Given the description of an element on the screen output the (x, y) to click on. 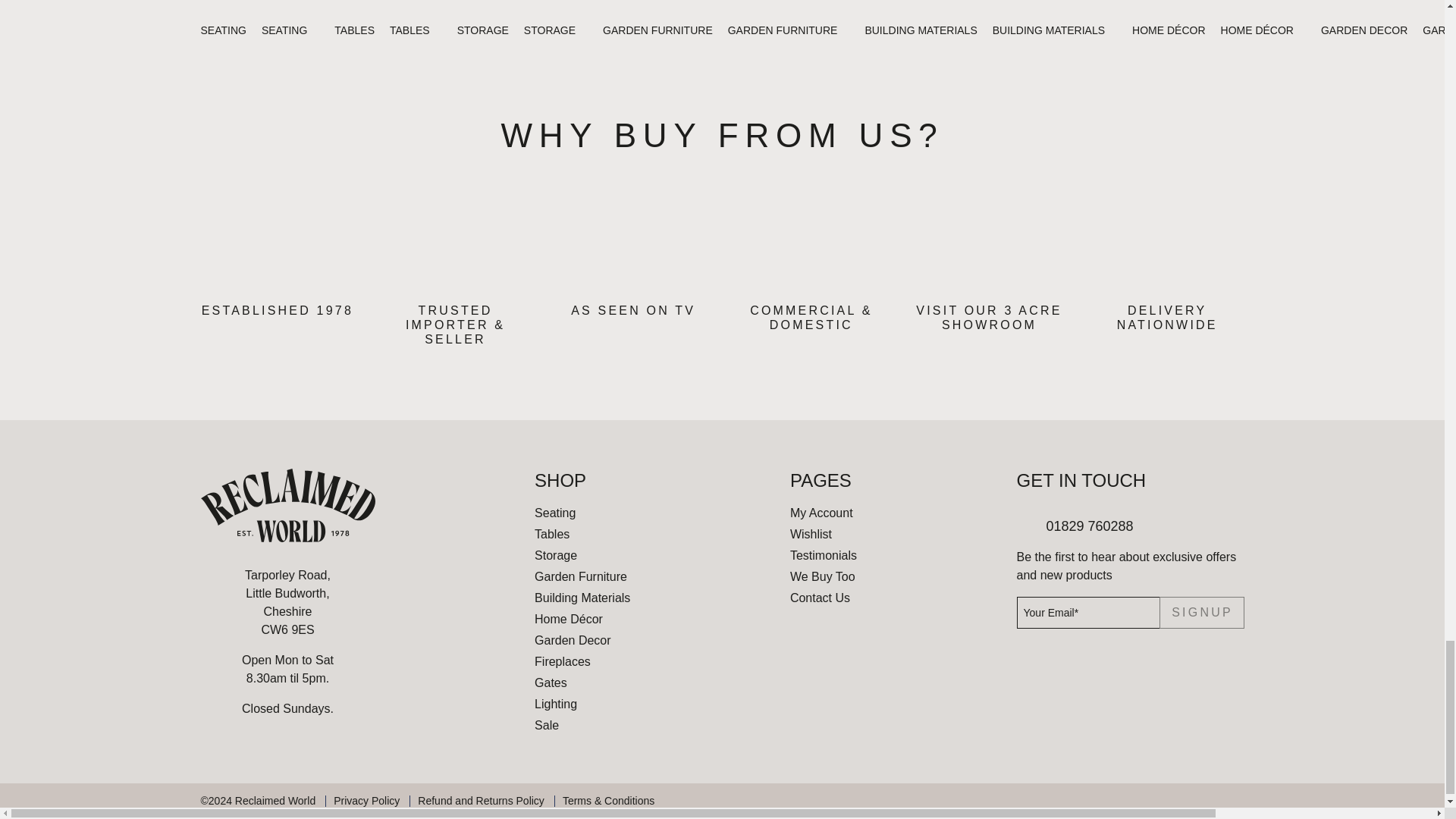
Signup (1200, 612)
